Given the description of an element on the screen output the (x, y) to click on. 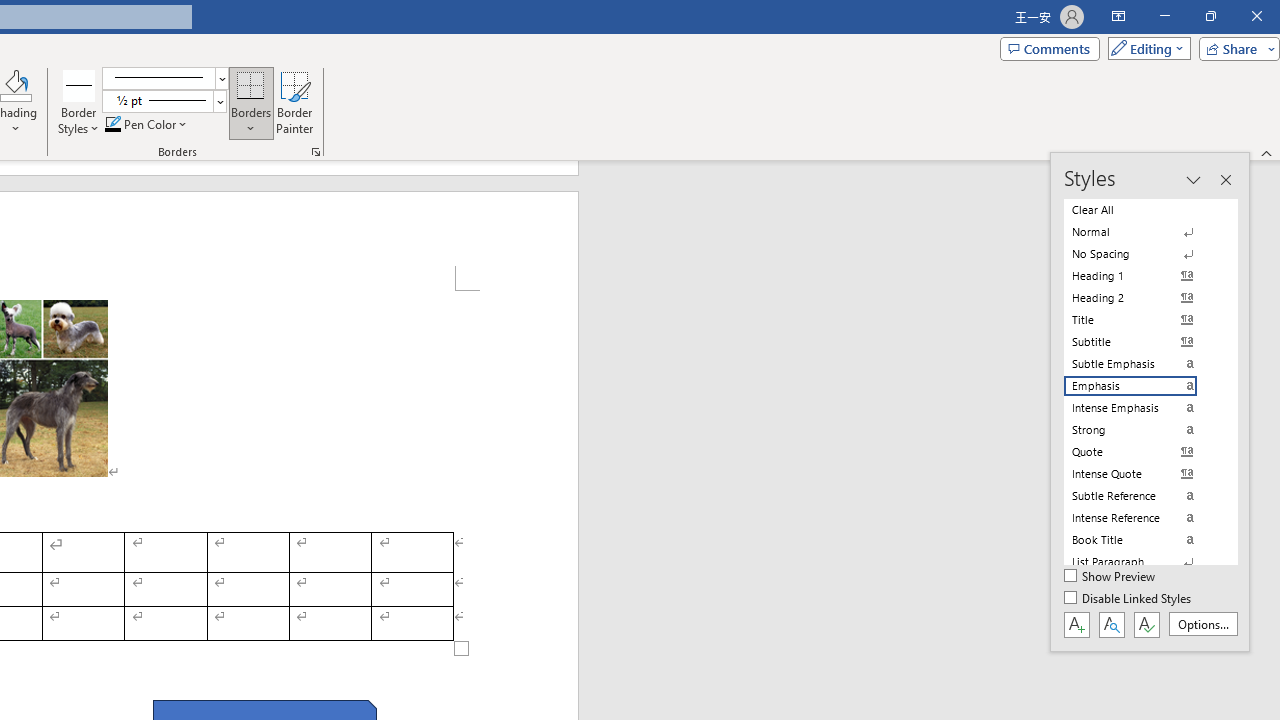
Strong (1142, 429)
Class: NetUIButton (1146, 624)
No Spacing (1142, 253)
Pen Style (165, 78)
Pen Weight (164, 101)
Border Styles (79, 102)
Quote (1142, 451)
Show Preview (1110, 577)
